Given the description of an element on the screen output the (x, y) to click on. 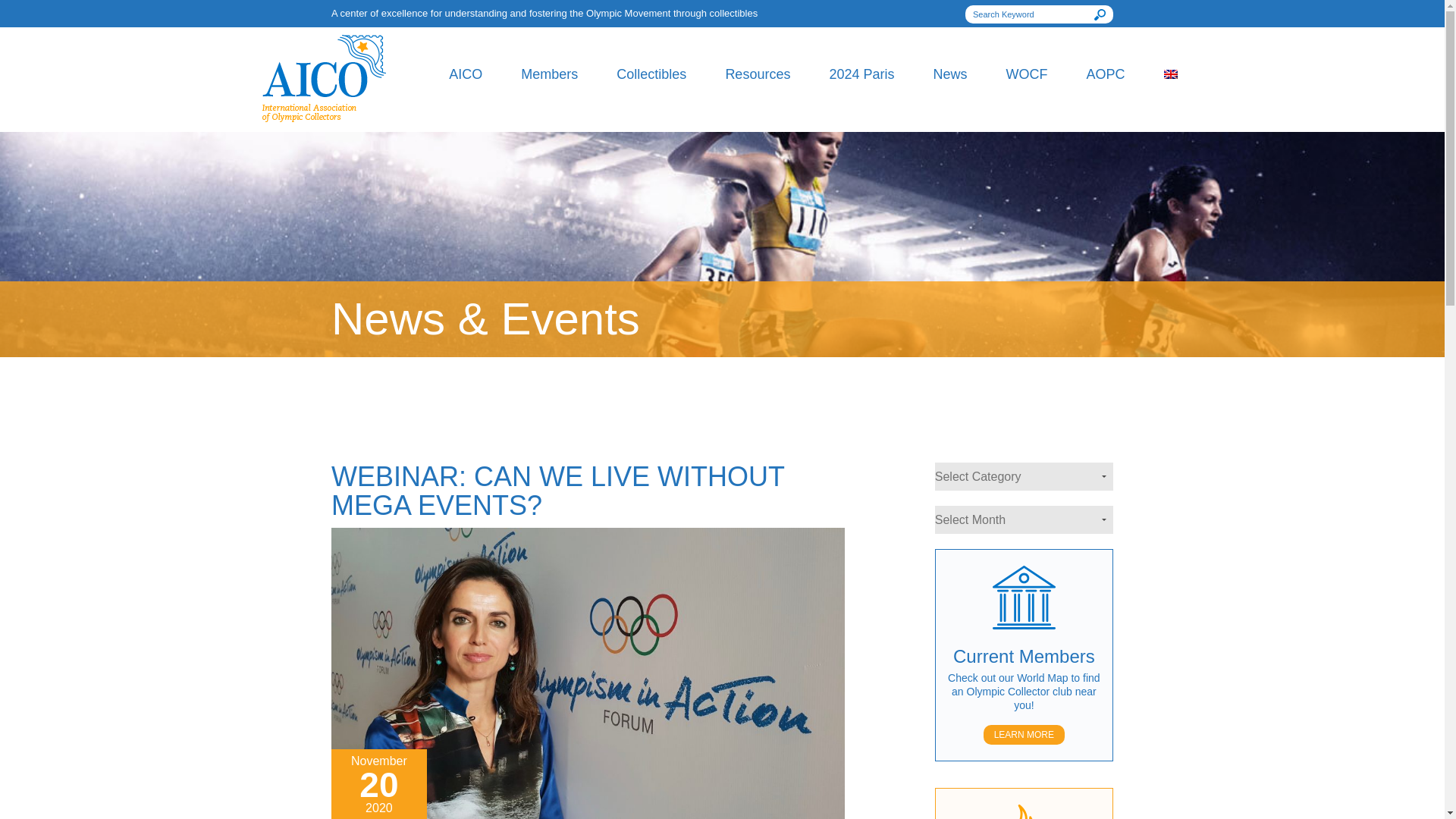
Content Library (775, 265)
Documents (499, 186)
Numismatics (666, 138)
Membership Benefits (571, 170)
Members (549, 73)
Join AICO (571, 202)
Philately (666, 106)
2024 Olympic Collectors House (879, 114)
Links (775, 297)
Join AICO (571, 202)
Member Archives (775, 170)
Philately (666, 106)
Search (1099, 14)
WOC Fairs History (775, 361)
Helpful Links (775, 297)
